Given the description of an element on the screen output the (x, y) to click on. 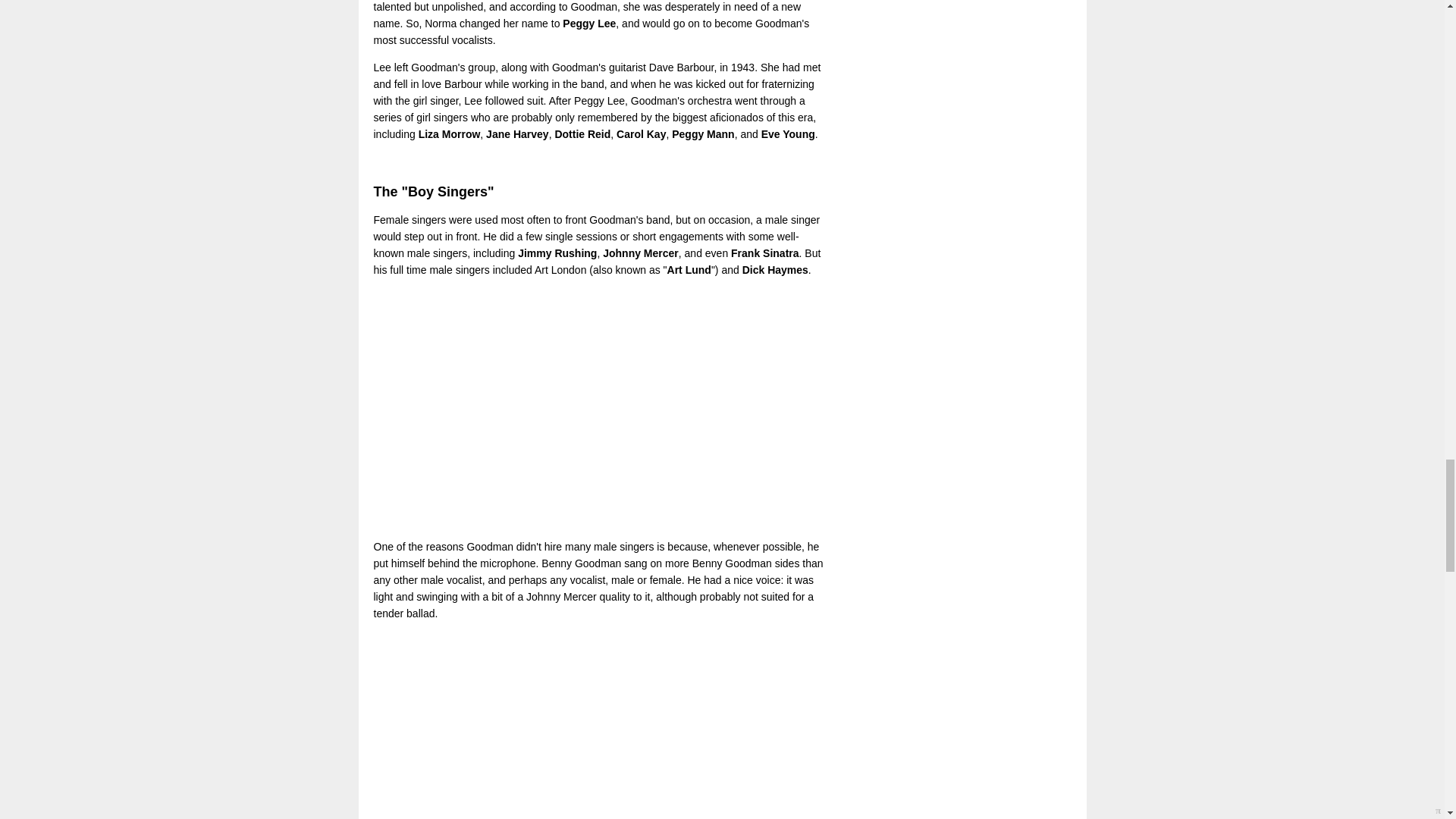
YouTube video player (584, 725)
YouTube video player (584, 408)
